Given the description of an element on the screen output the (x, y) to click on. 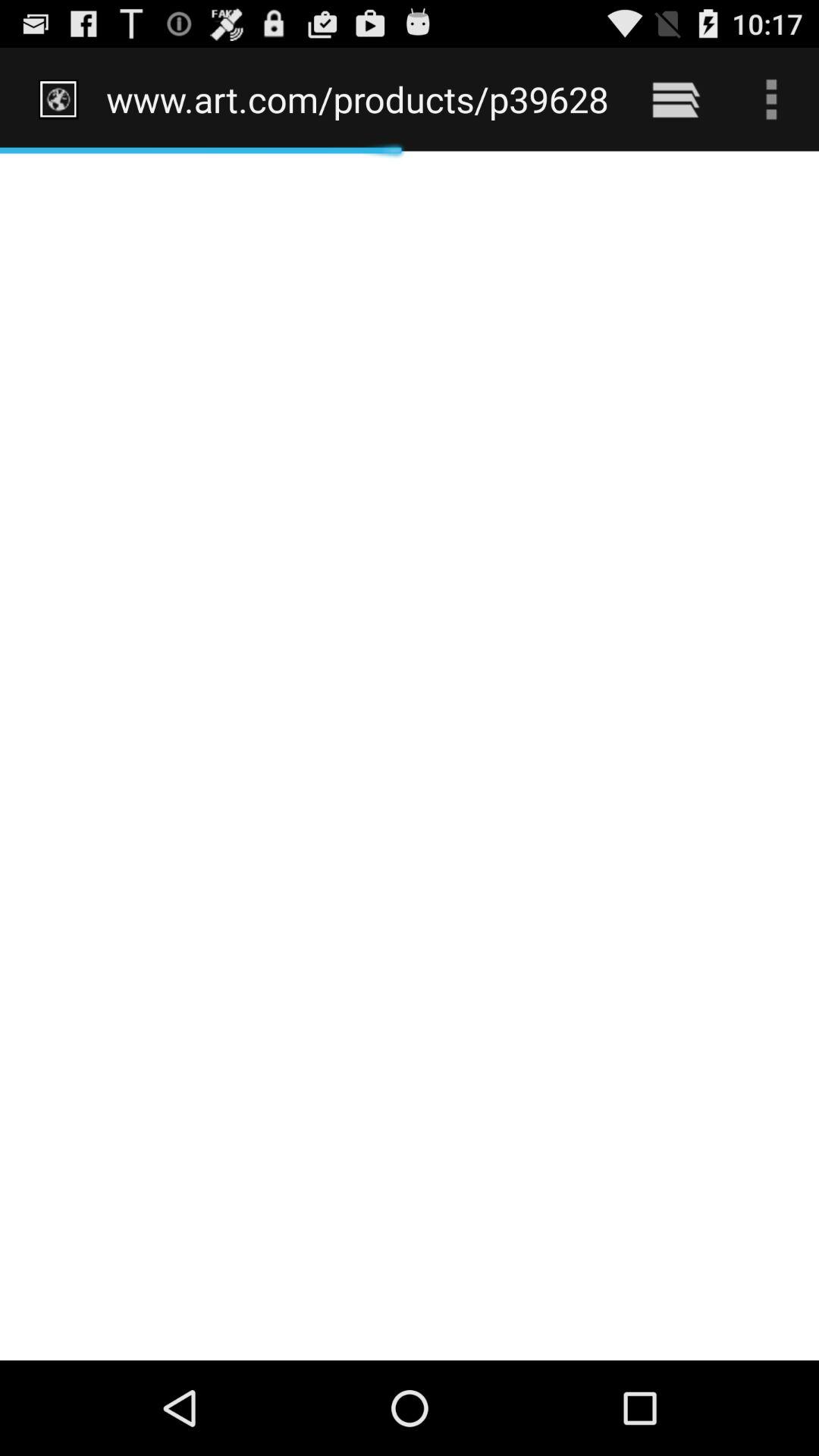
choose icon next to the www art com (675, 99)
